Given the description of an element on the screen output the (x, y) to click on. 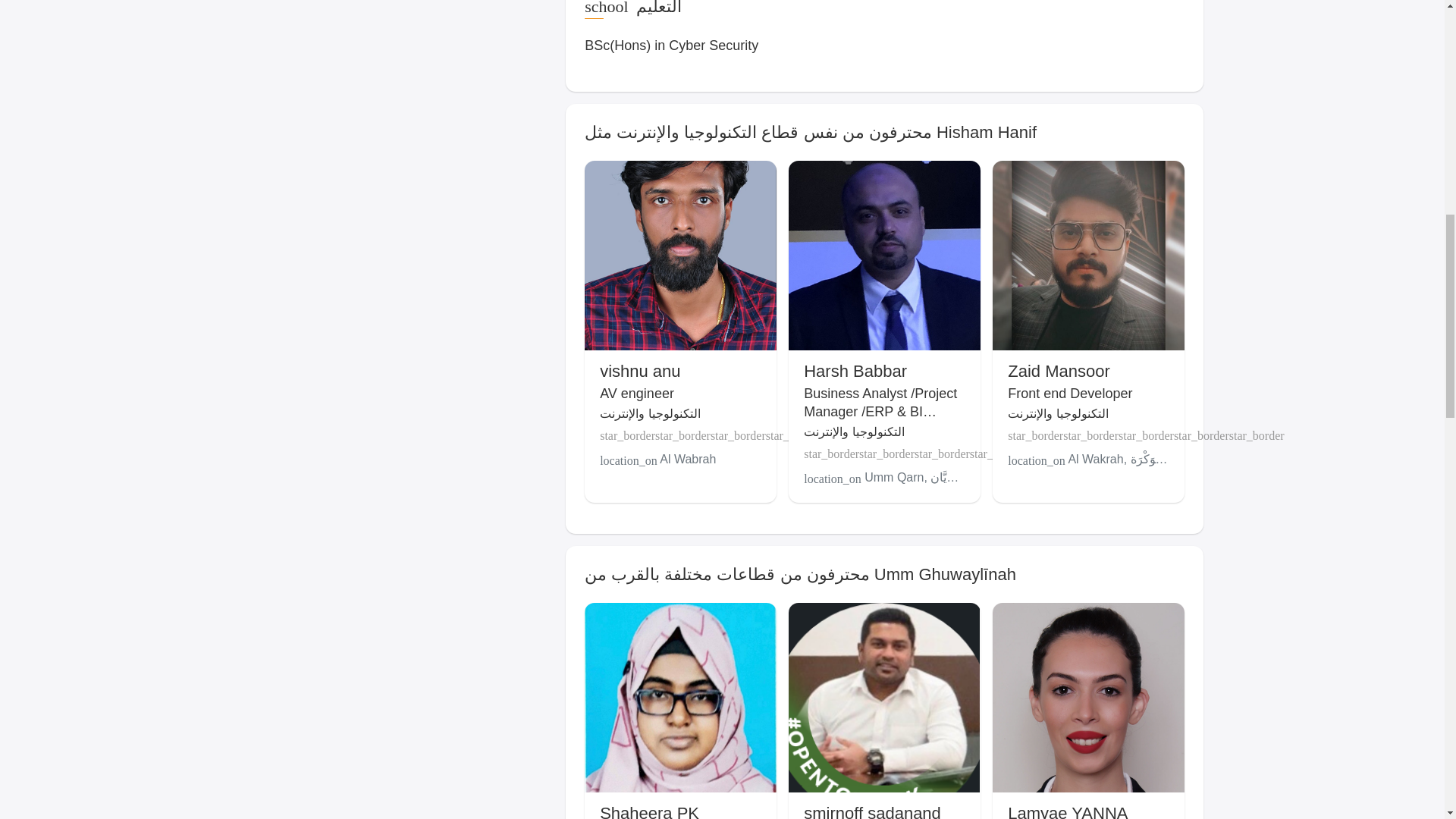
Zaid Mansoor (1058, 370)
Harsh Babbar (855, 370)
vishnu anu (639, 370)
Lamyae YANNA (1066, 811)
smirnoff sadanand (871, 811)
smirnoff sadanand (871, 811)
Shaheera PK (648, 811)
Lamyae YANNA (1066, 811)
Zaid Mansoor (1058, 370)
Shaheera PK (648, 811)
